Given the description of an element on the screen output the (x, y) to click on. 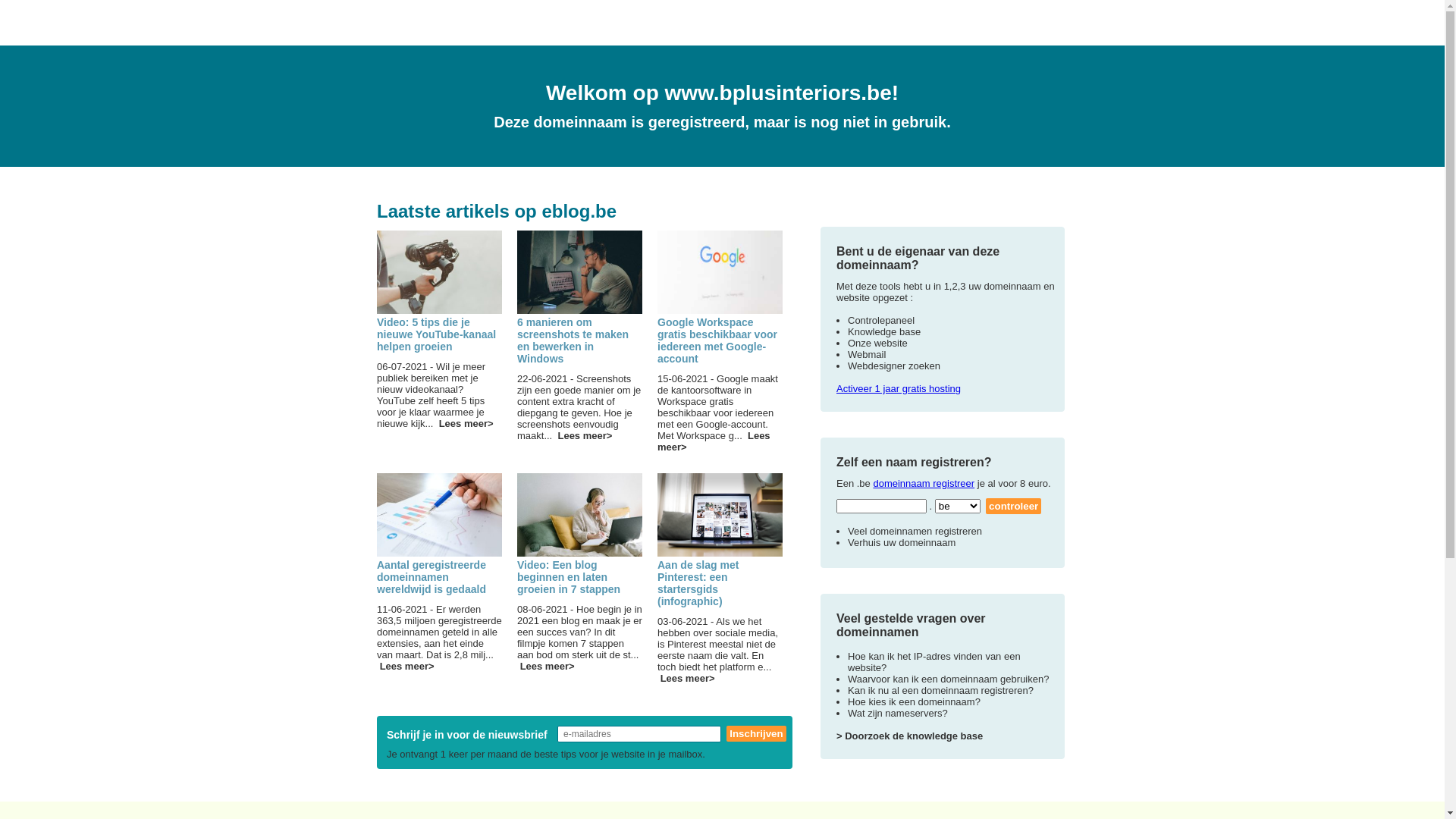
domeinnaam registreer Element type: text (923, 483)
Inschrijven Element type: text (755, 733)
Activeer 1 jaar gratis hosting Element type: text (898, 388)
Waarvoor kan ik een domeinnaam gebruiken? Element type: text (947, 678)
Webdesigner zoeken Element type: text (893, 365)
Hoe kies ik een domeinnaam? Element type: text (913, 701)
Laatste artikels op eblog.be Element type: text (496, 210)
Webmail Element type: text (866, 354)
controleer Element type: text (1013, 506)
Veel domeinnamen registreren Element type: text (914, 530)
Kan ik nu al een domeinnaam registreren? Element type: text (940, 690)
> Doorzoek de knowledge base Element type: text (909, 735)
Wat zijn nameservers? Element type: text (897, 712)
Onze website Element type: text (877, 342)
Knowledge base Element type: text (883, 331)
Hoe kan ik het IP-adres vinden van een website? Element type: text (933, 661)
Controlepaneel Element type: text (880, 320)
Verhuis uw domeinnaam Element type: text (901, 542)
